Given the description of an element on the screen output the (x, y) to click on. 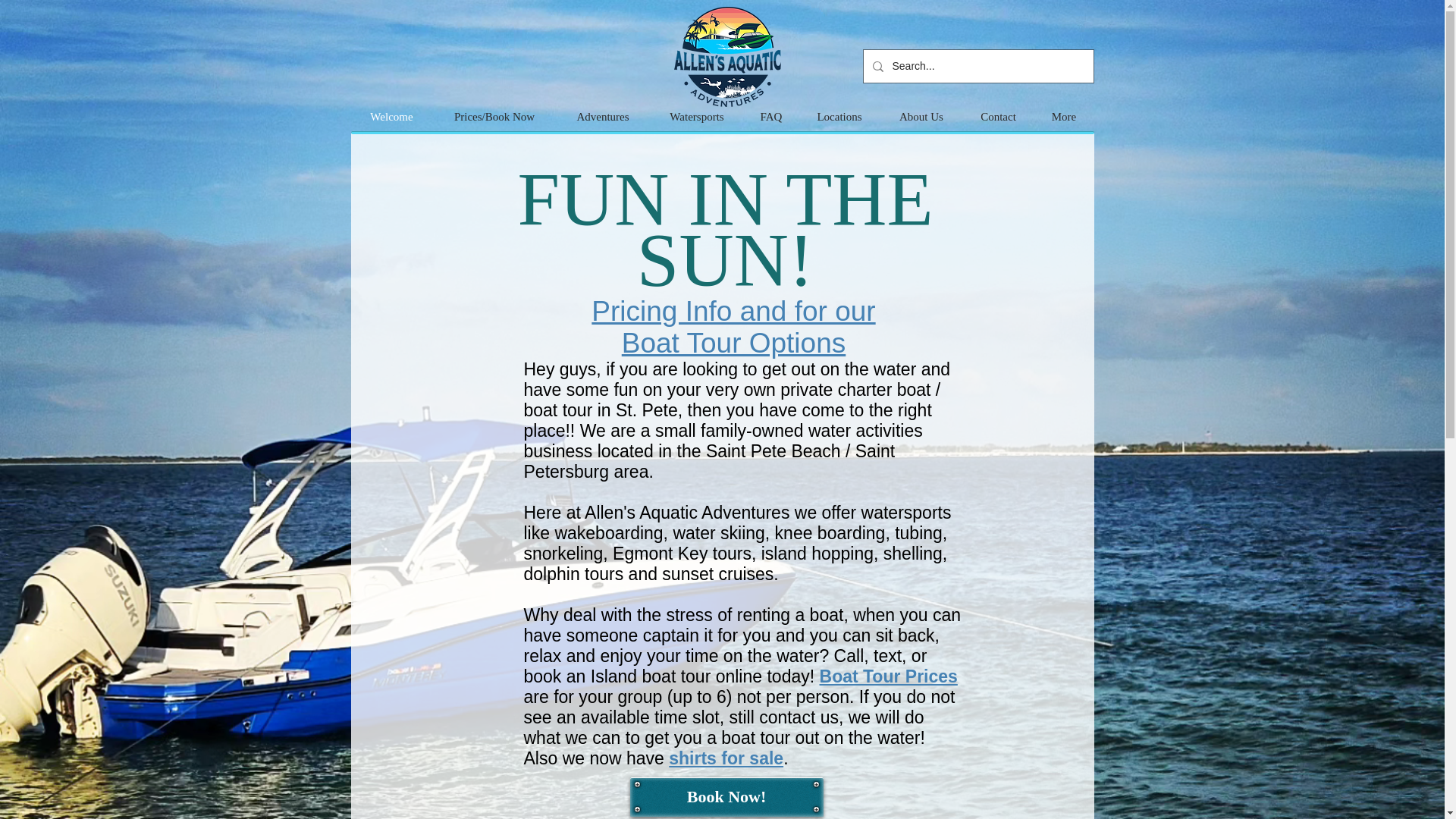
Boat Tour Prices (888, 676)
Book Now! (725, 796)
Pricing Info and for our Boat Tour Options (733, 326)
Locations (838, 117)
Welcome (391, 117)
About Us (921, 117)
shirts for sale (725, 758)
Watersports (696, 117)
FAQ (770, 117)
Contact (996, 117)
